Given the description of an element on the screen output the (x, y) to click on. 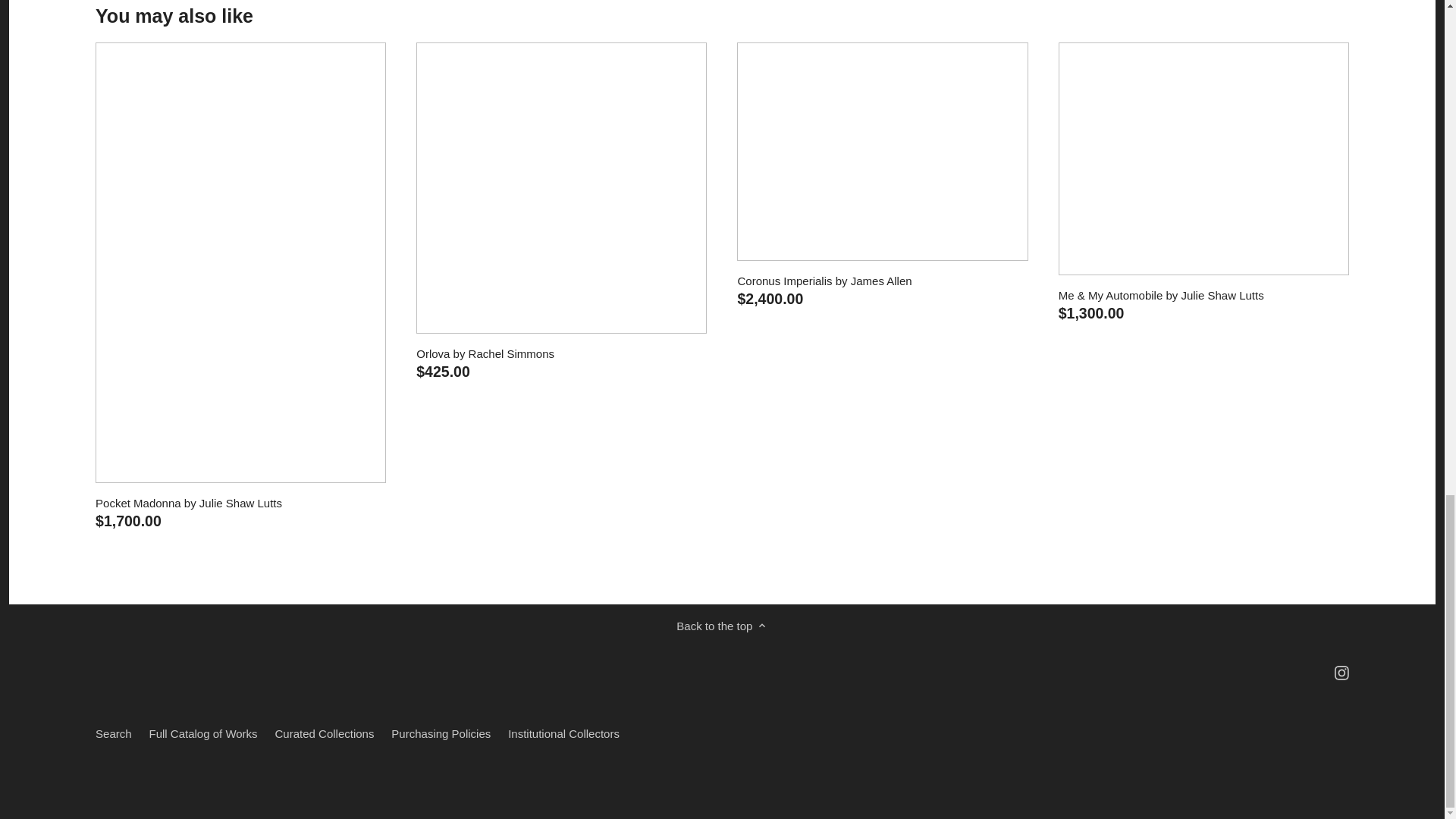
Instagram (1341, 672)
Instagram (1342, 671)
